Given the description of an element on the screen output the (x, y) to click on. 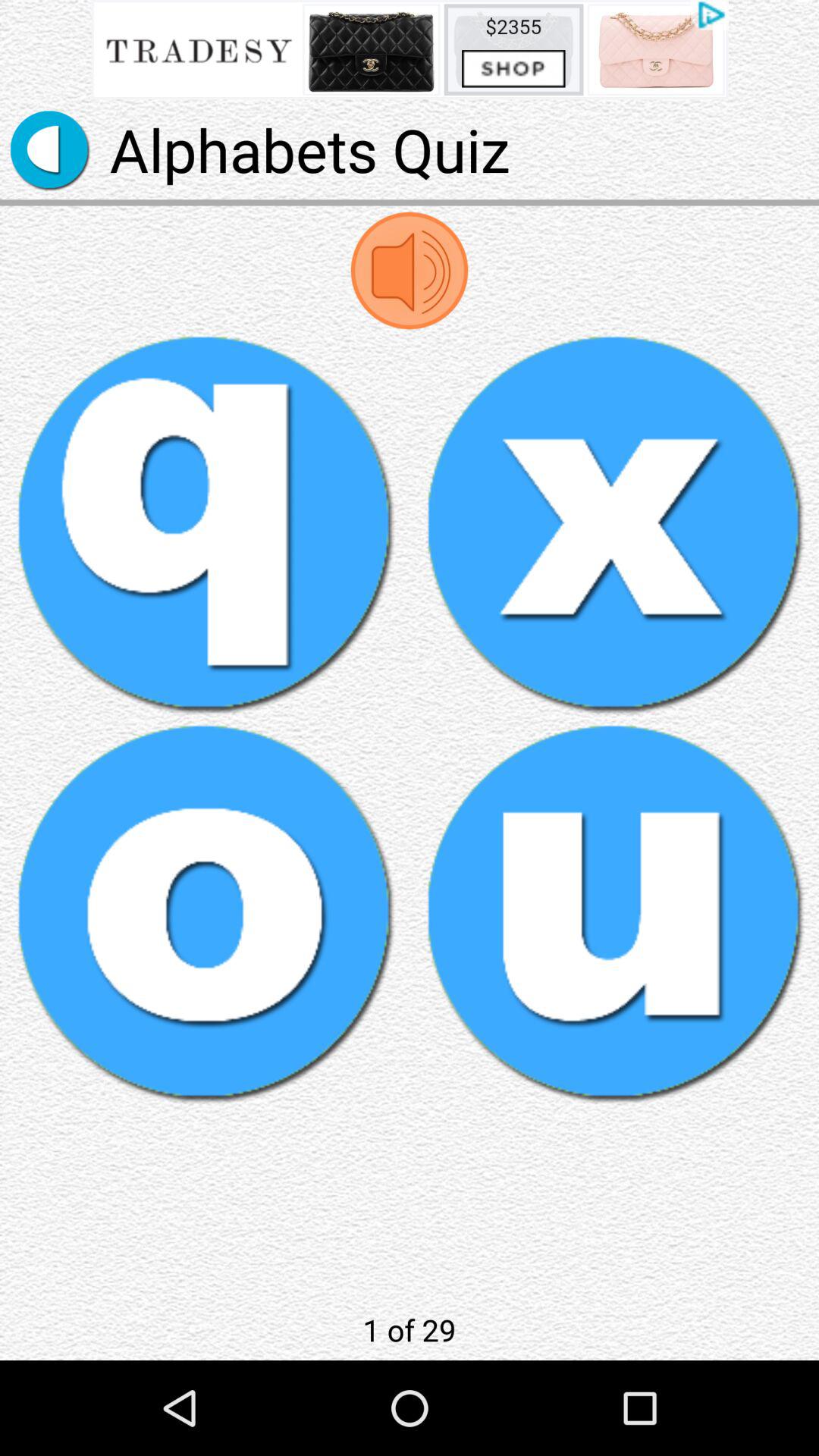
select letter o (204, 912)
